Given the description of an element on the screen output the (x, y) to click on. 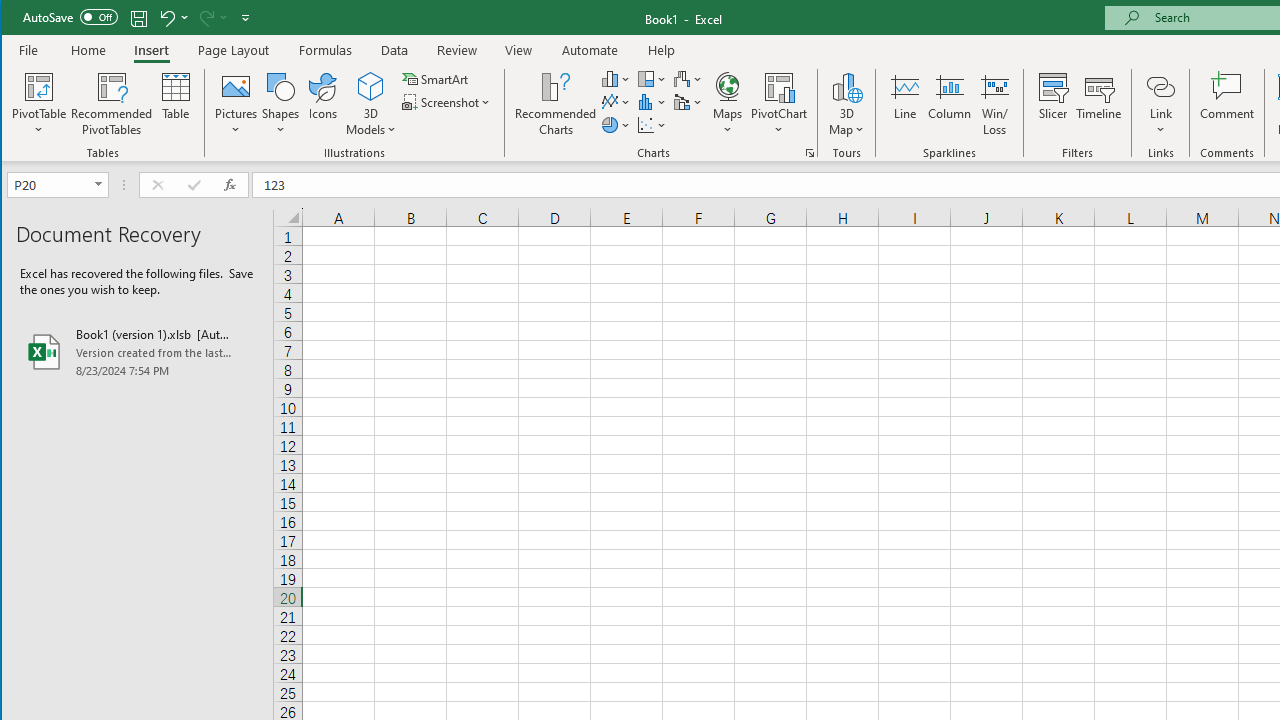
Home (88, 50)
Table (175, 104)
File Tab (29, 49)
Link (1160, 86)
Data (395, 50)
Pictures (235, 104)
Customize Quick Access Toolbar (245, 17)
PivotTable (39, 86)
Insert Waterfall, Funnel, Stock, Surface, or Radar Chart (688, 78)
Insert Hierarchy Chart (652, 78)
AutoSave (70, 16)
Icons (323, 104)
